Given the description of an element on the screen output the (x, y) to click on. 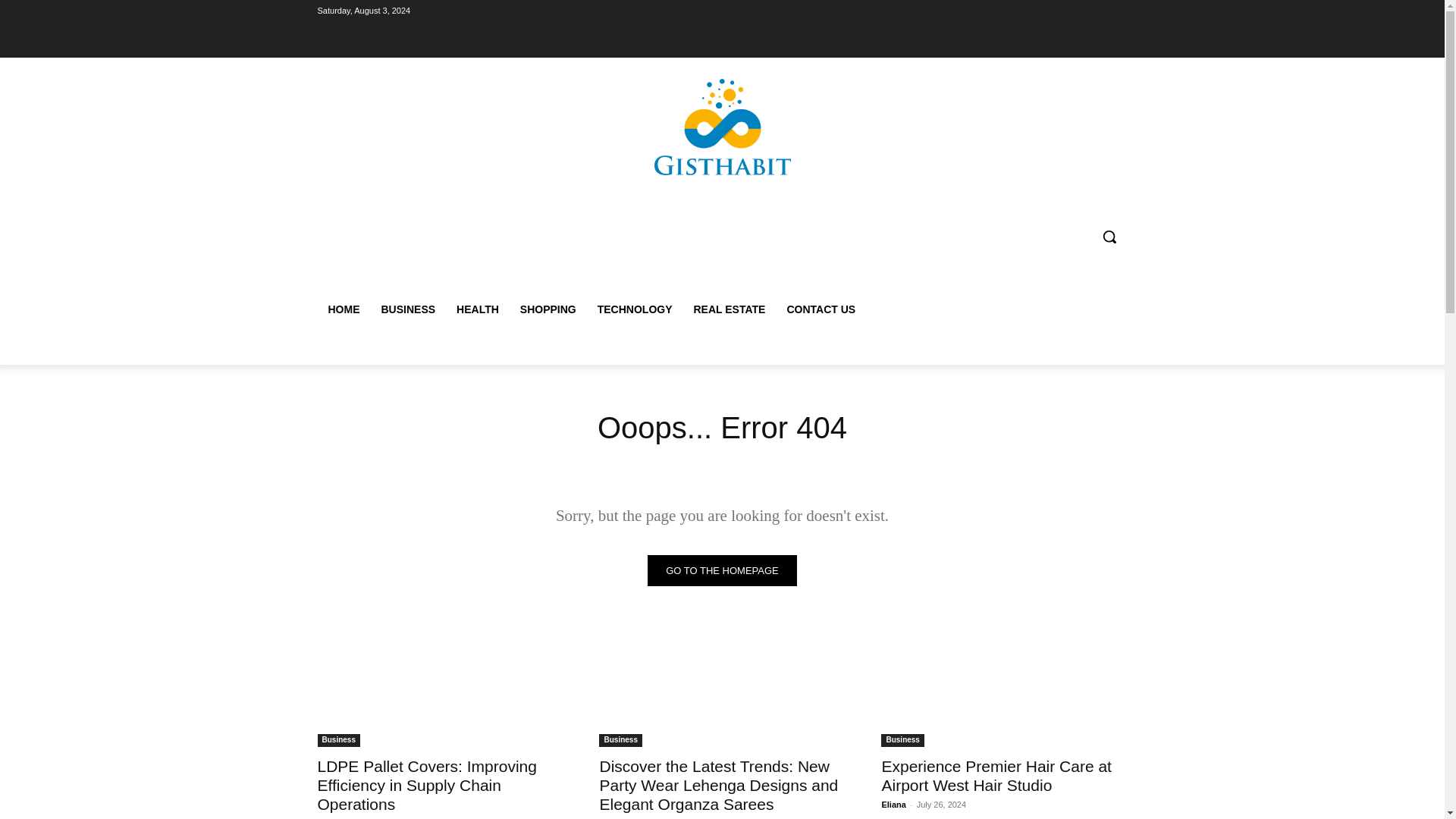
Business (338, 739)
Eliana (892, 804)
HOME (343, 309)
Business (901, 739)
Experience Premier Hair Care at Airport West Hair Studio (995, 775)
SHOPPING (547, 309)
Experience Premier Hair Care at Airport West Hair Studio (1003, 685)
Business (620, 739)
TECHNOLOGY (634, 309)
BUSINESS (407, 309)
CONTACT US (821, 309)
